Given the description of an element on the screen output the (x, y) to click on. 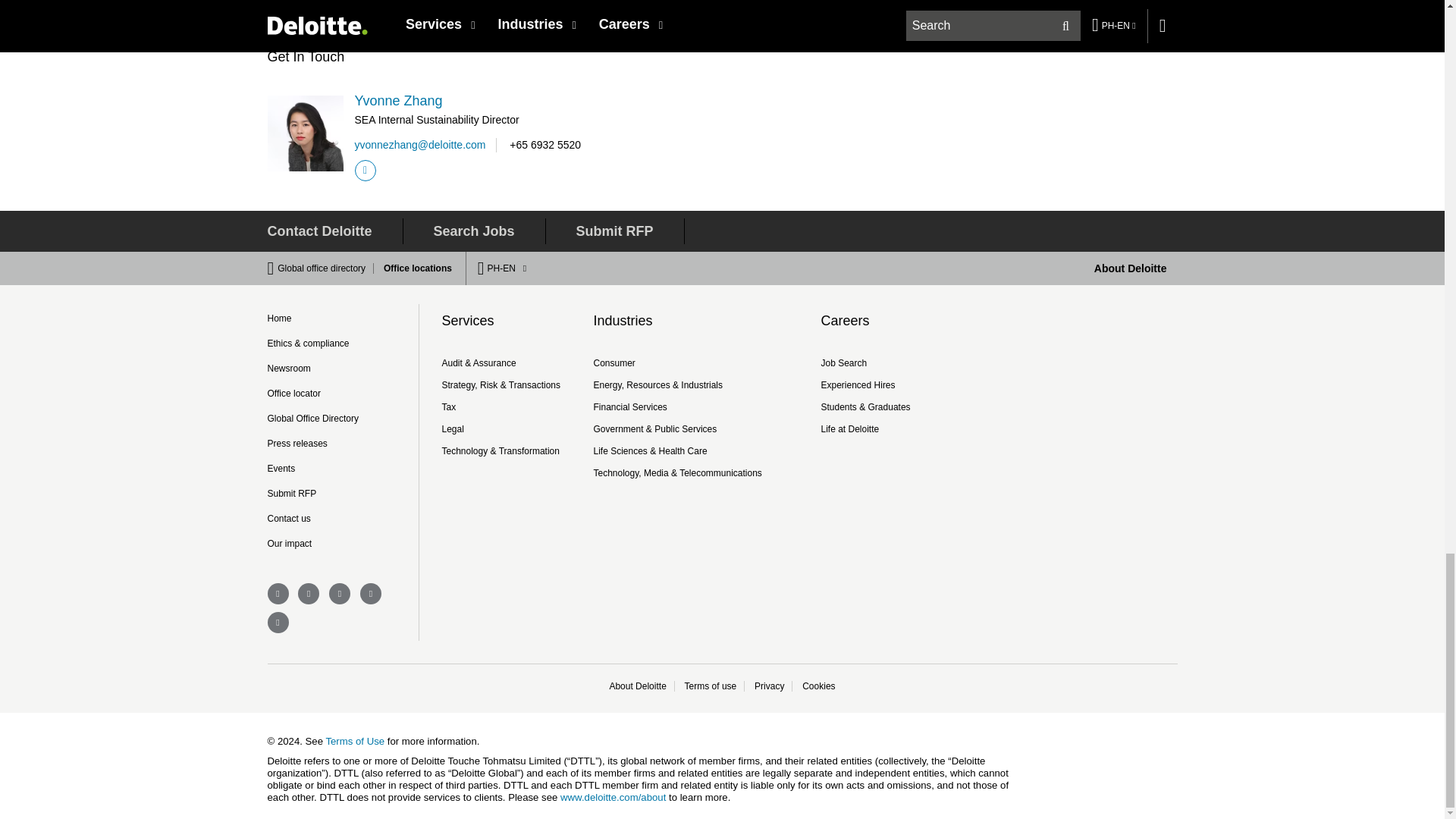
Global office directory (326, 267)
twitter (370, 593)
youtube (277, 622)
Office locations (413, 267)
About Deloitte (1130, 268)
linkedin (308, 593)
instagram (339, 593)
facebook (277, 593)
LinkedIn (365, 169)
